Given the description of an element on the screen output the (x, y) to click on. 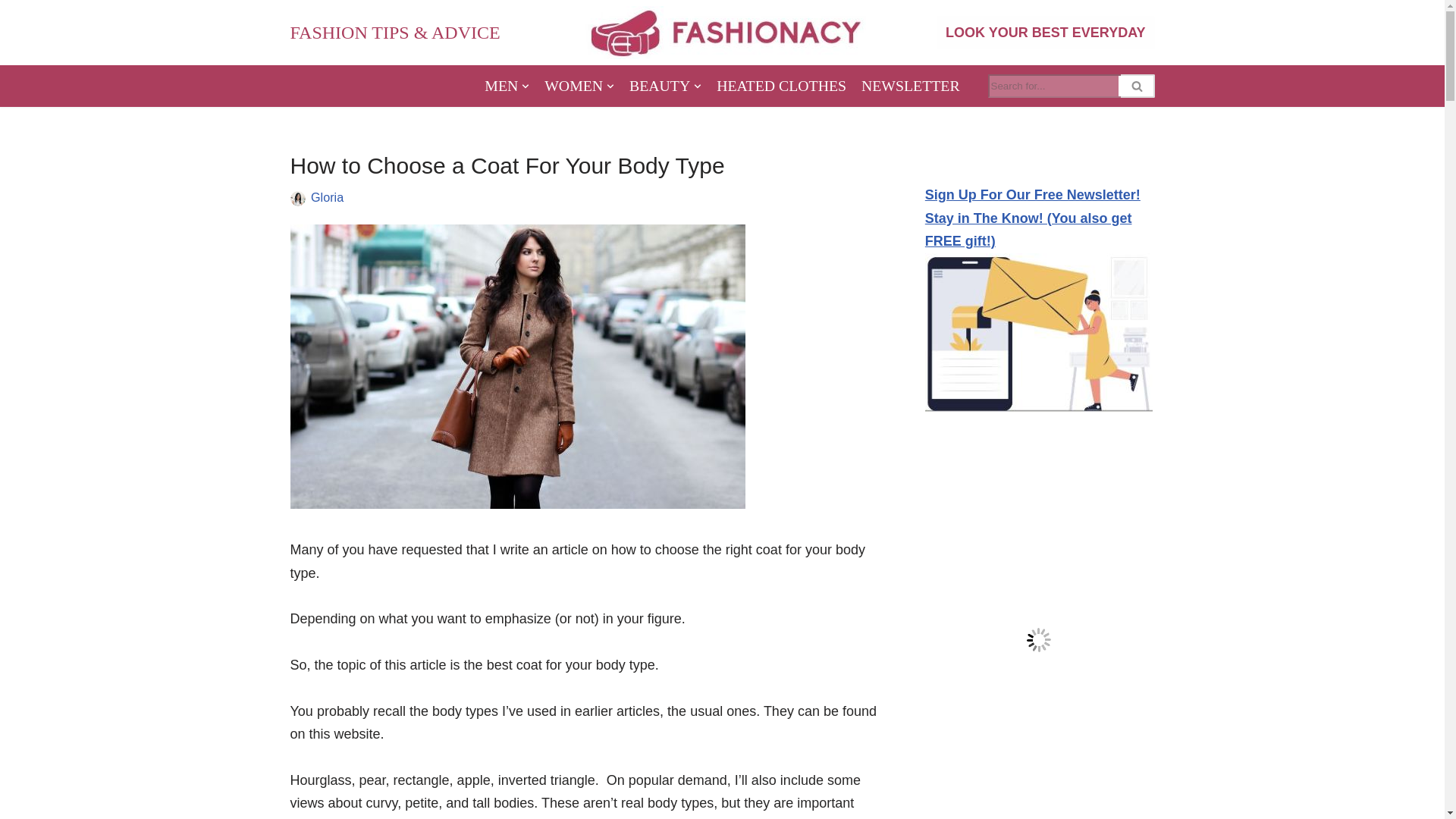
MEN (506, 86)
Skip to content (11, 31)
Posts by Gloria (327, 196)
LOOK YOUR BEST EVERYDAY (1045, 32)
BEAUTY (664, 86)
WOMEN (579, 86)
